Given the description of an element on the screen output the (x, y) to click on. 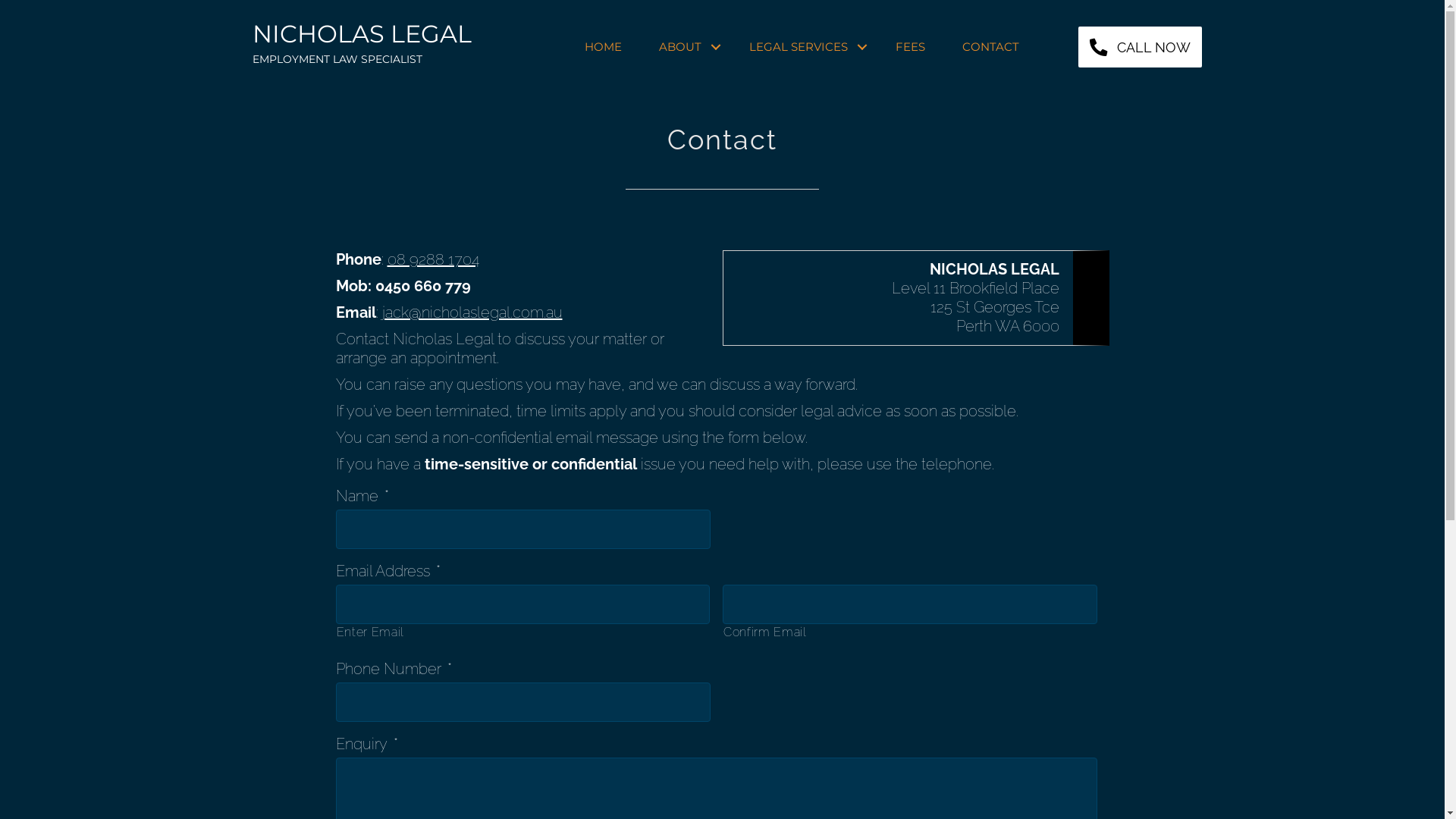
jack@nicholaslegal.com.au Element type: text (472, 312)
CONTACT Element type: text (990, 47)
HOME Element type: text (603, 47)
NICHOLAS LEGAL Element type: text (360, 33)
08 9288 1704 Element type: text (432, 259)
EMPLOYMENT LAW SPECIALIST Element type: text (336, 58)
CALL NOW Element type: text (1139, 46)
ABOUT Element type: text (685, 47)
FEES Element type: text (910, 47)
LEGAL SERVICES Element type: text (803, 47)
